Given the description of an element on the screen output the (x, y) to click on. 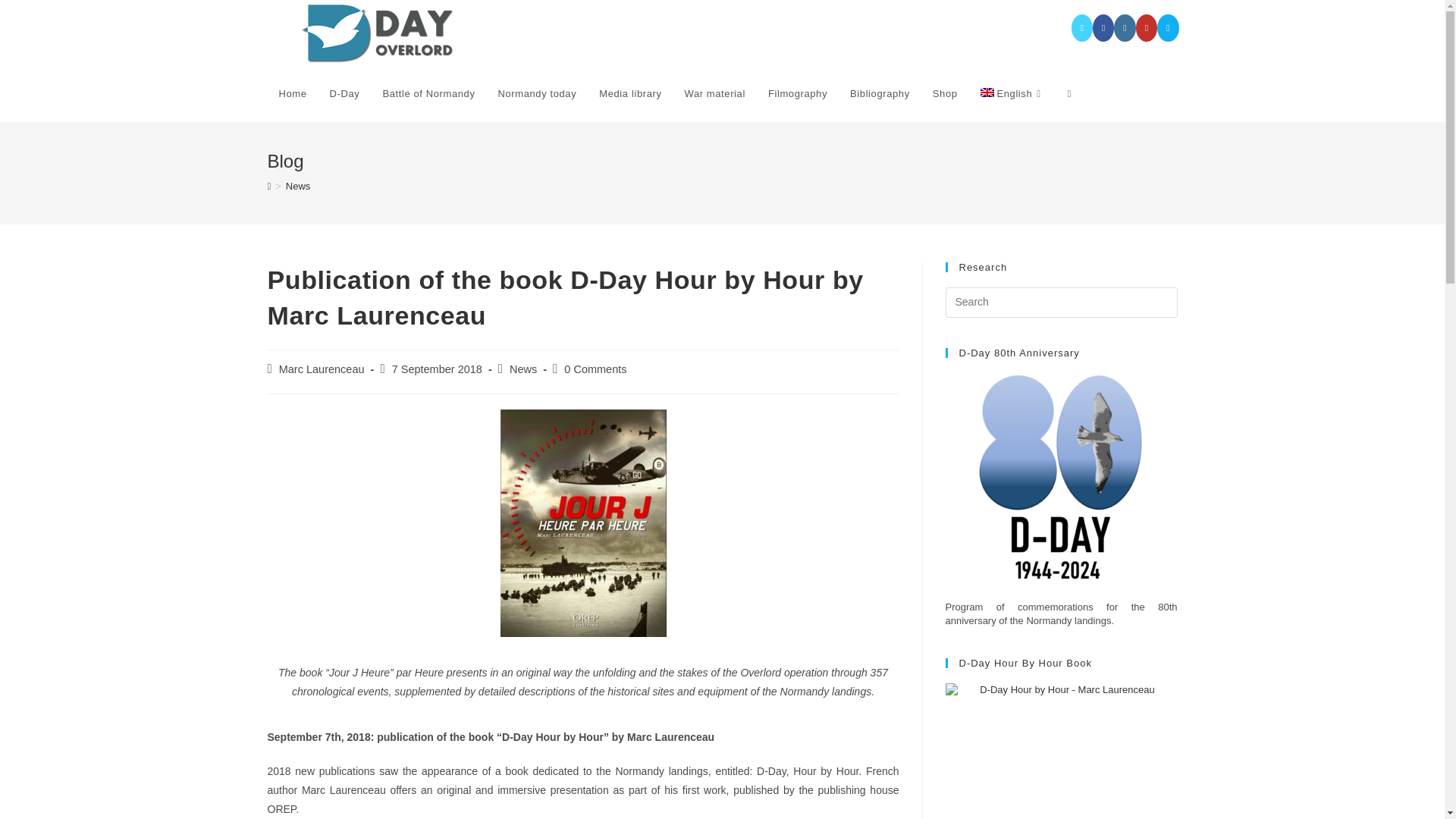
Bibliography (879, 94)
English (1013, 94)
Home (291, 94)
Posts by Marc Laurenceau (322, 369)
Filmography (797, 94)
Media library (630, 94)
War material (714, 94)
Normandy today (537, 94)
English (1013, 94)
D-Day (344, 94)
Battle of Normandy (428, 94)
